Given the description of an element on the screen output the (x, y) to click on. 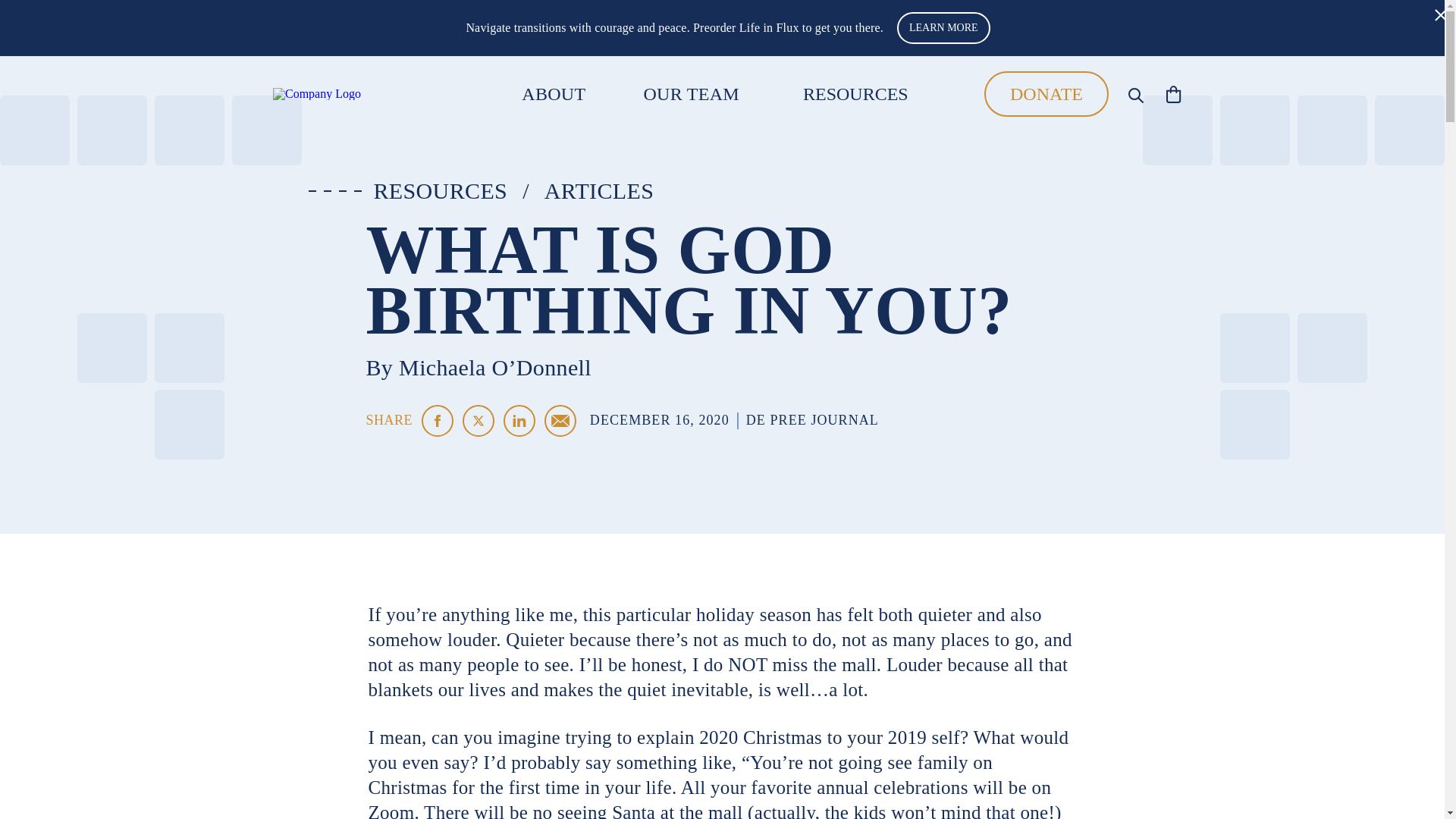
De Pree Center (356, 93)
RESOURCES (439, 190)
LEARN MORE (943, 28)
DE PREE JOURNAL (812, 420)
ABOUT (552, 94)
Return to Homepage (356, 93)
RESOURCES (855, 93)
OUR TEAM (691, 94)
DONATE (1046, 94)
ARTICLES (598, 190)
